Given the description of an element on the screen output the (x, y) to click on. 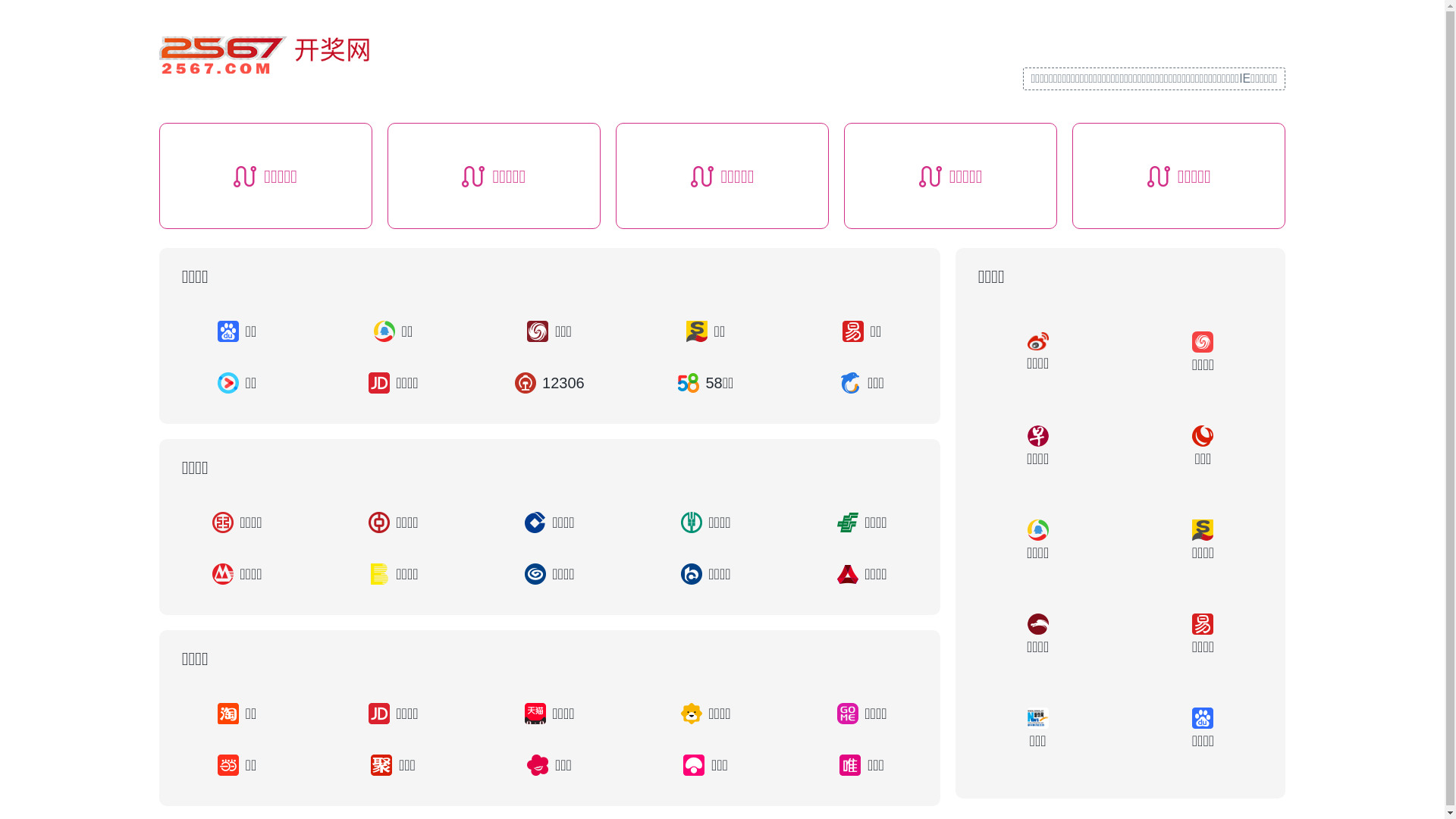
12306 Element type: text (549, 382)
